Given the description of an element on the screen output the (x, y) to click on. 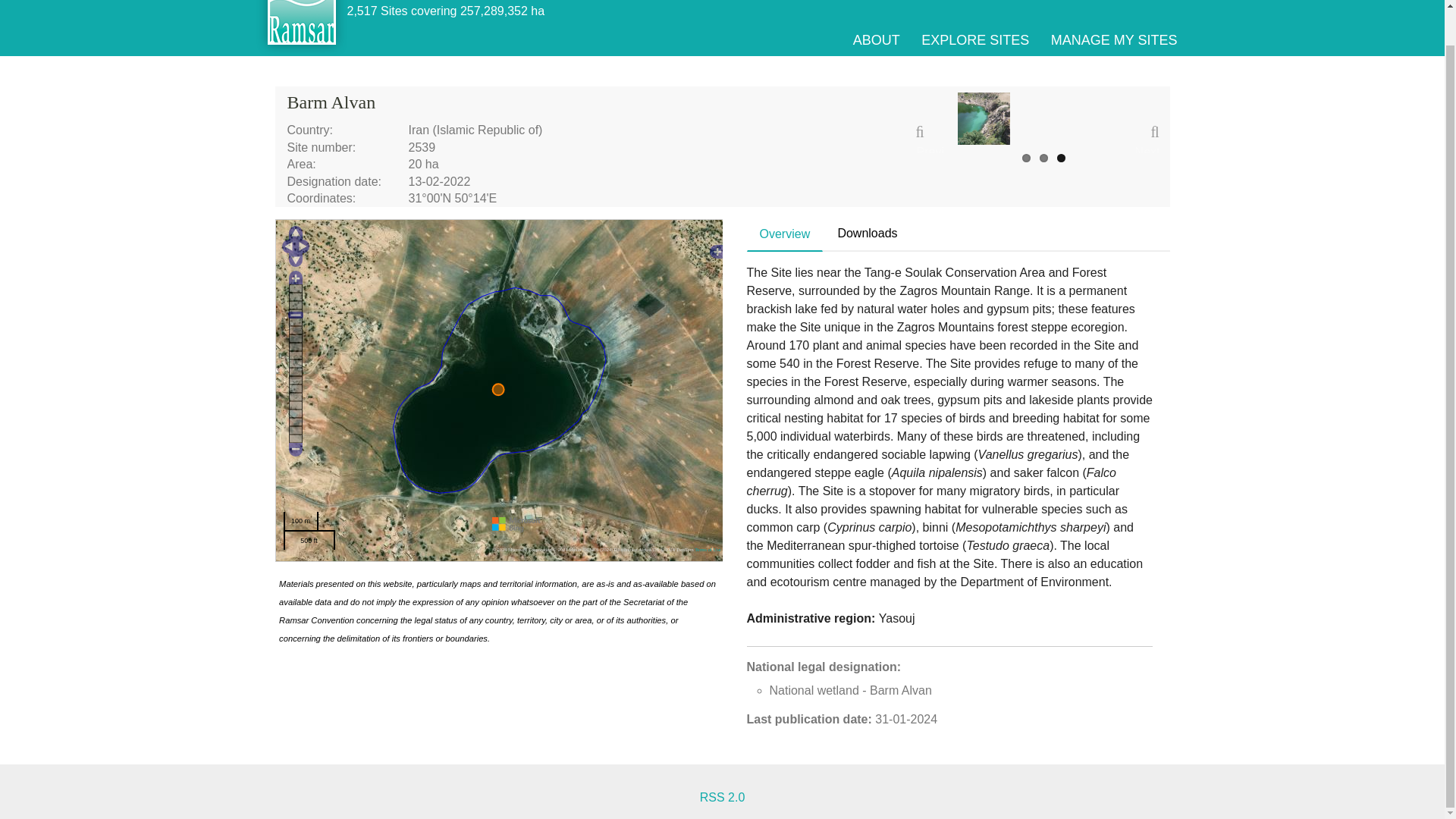
Overview (785, 234)
Home (301, 28)
2 (1042, 157)
EXPLORE SITES (975, 39)
1 (1026, 157)
3 (1061, 157)
Next (1143, 137)
Downloads (866, 234)
 view of a natural water hole around of Barm Alvan wetland (982, 118)
RSS 2.0 (722, 797)
Previous (930, 137)
Terms of Use (707, 549)
MANAGE MY SITES (1114, 39)
